Given the description of an element on the screen output the (x, y) to click on. 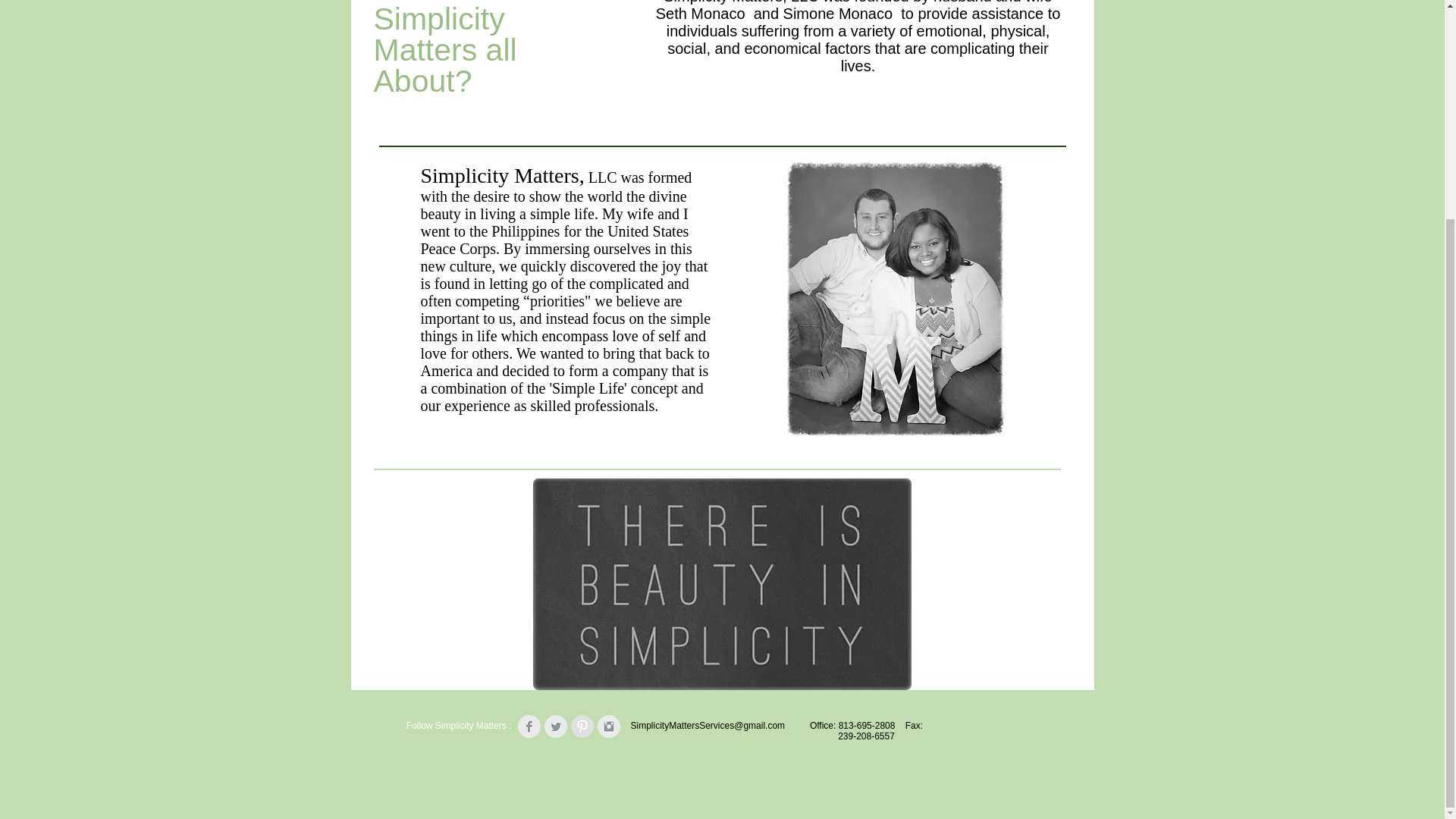
beauty-in-simplicity.jpg (721, 583)
